Given the description of an element on the screen output the (x, y) to click on. 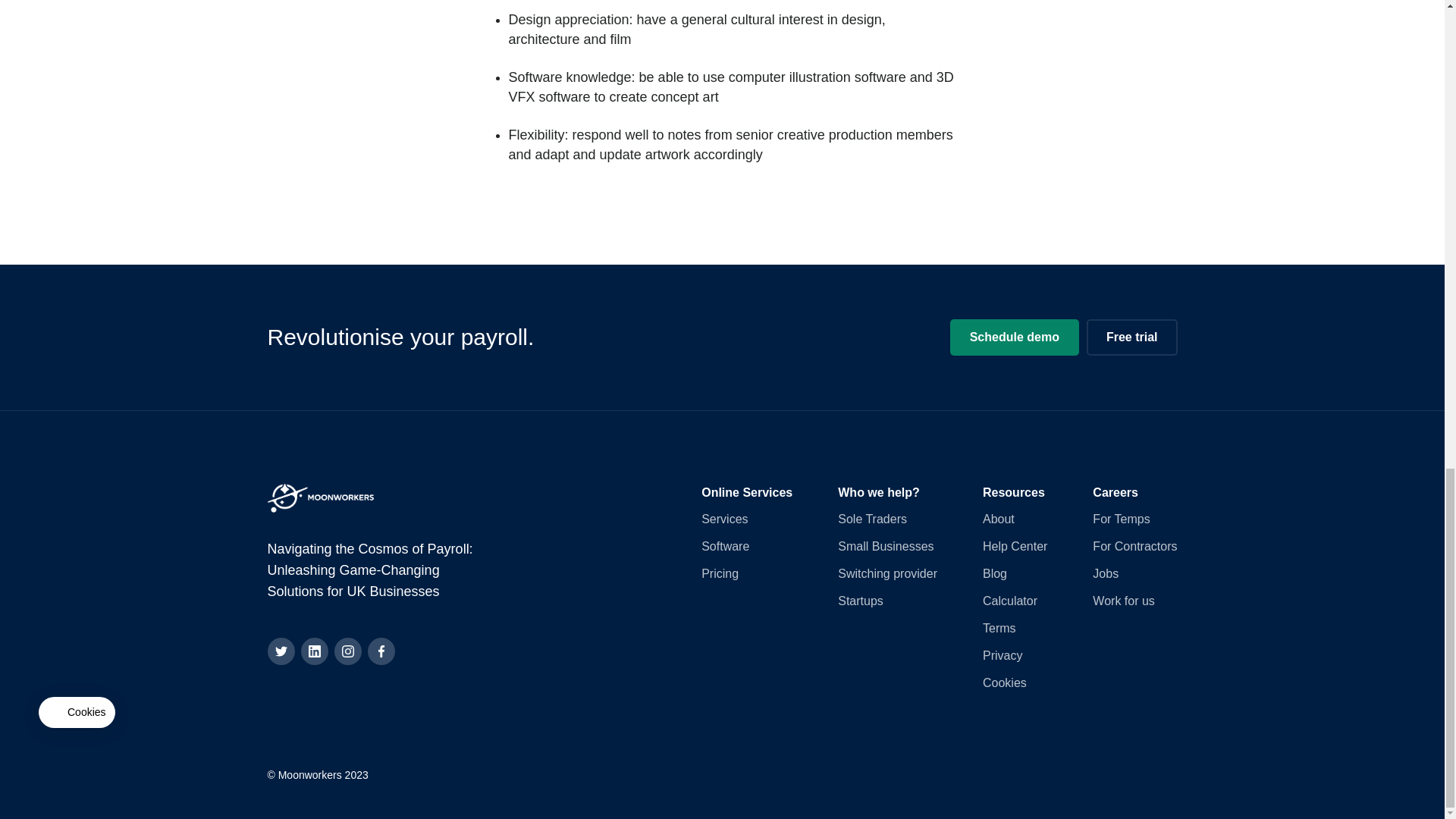
Schedule demo (1014, 337)
Switching provider (887, 573)
Sole Traders (872, 518)
Services (724, 518)
Small Businesses (885, 545)
Software (725, 545)
Pricing (719, 573)
Startups (860, 600)
Free trial (1131, 337)
